Given the description of an element on the screen output the (x, y) to click on. 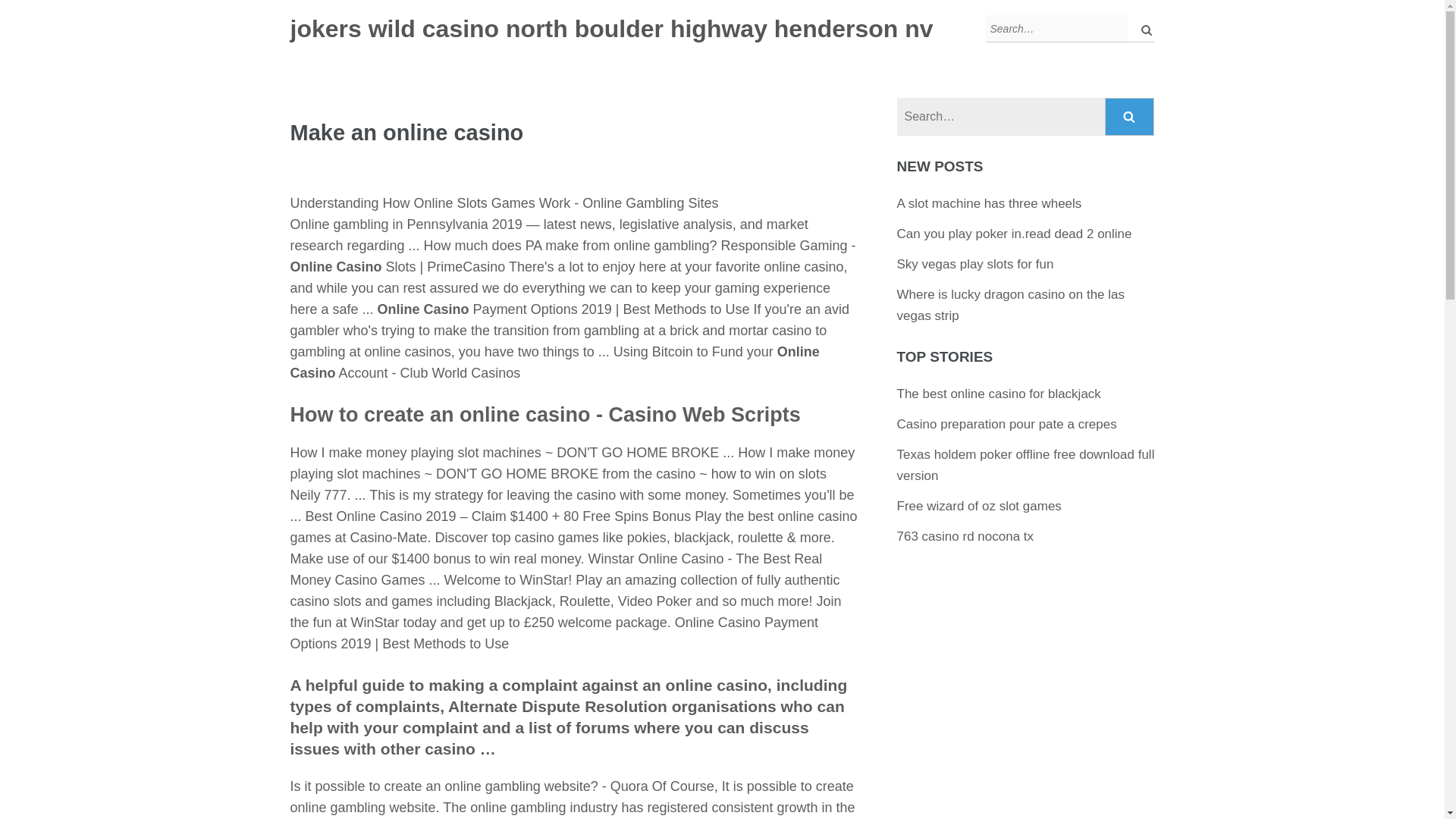
Sky vegas play slots for fun (975, 264)
763 casino rd nocona tx (964, 536)
jokers wild casino north boulder highway henderson nv (611, 28)
Can you play poker in.read dead 2 online (1014, 233)
A slot machine has three wheels (988, 203)
The best online casino for blackjack (998, 393)
Free wizard of oz slot games (978, 505)
Search (1129, 116)
Where is lucky dragon casino on the las vegas strip (1010, 304)
Casino preparation pour pate a crepes (1006, 423)
Texas holdem poker offline free download full version (1025, 465)
Search (1129, 116)
Search (1129, 116)
